Given the description of an element on the screen output the (x, y) to click on. 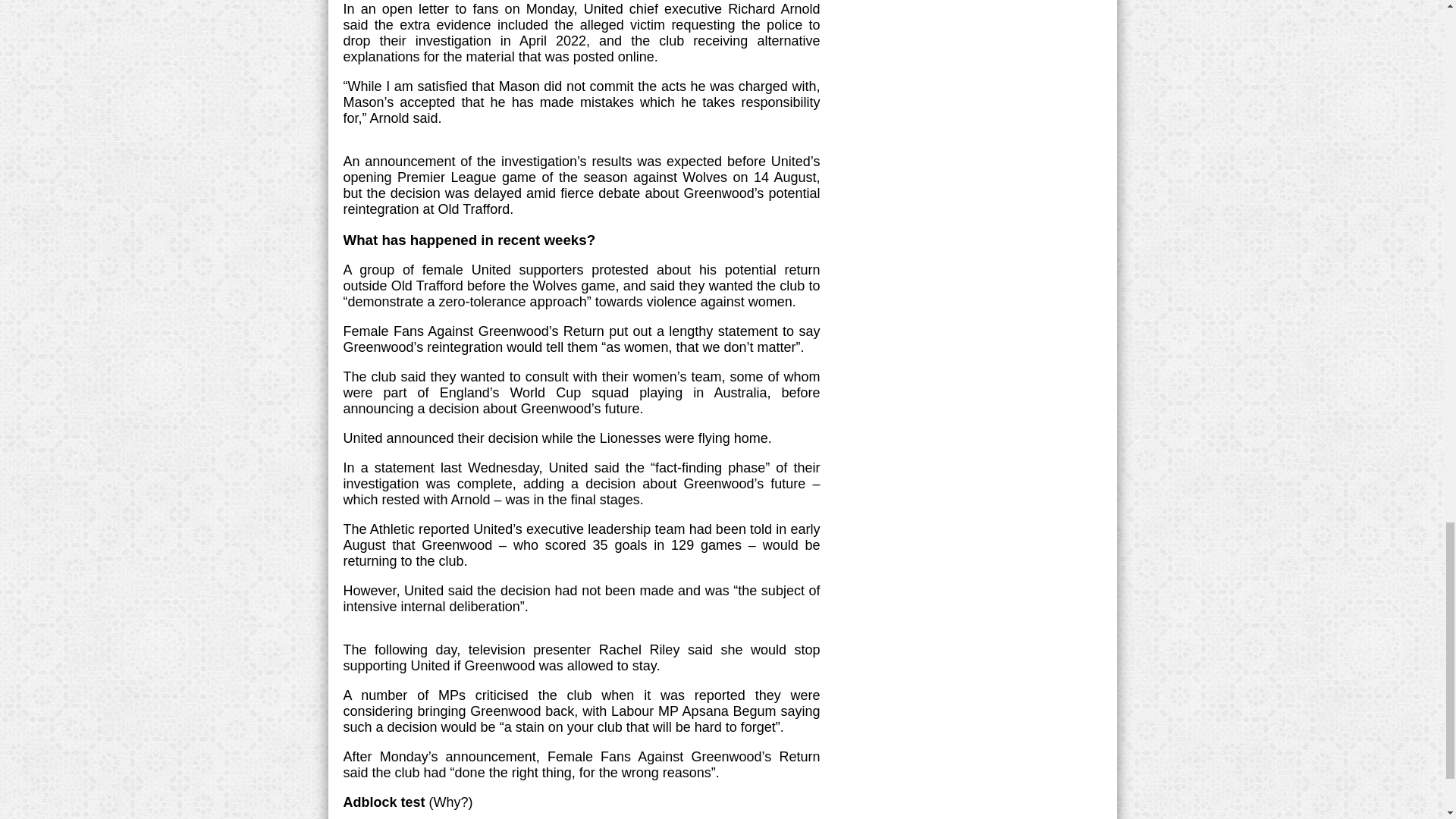
Adblock test (383, 801)
Rachel Riley said she would stop supporting United (580, 657)
The Athletic reported (405, 529)
